Given the description of an element on the screen output the (x, y) to click on. 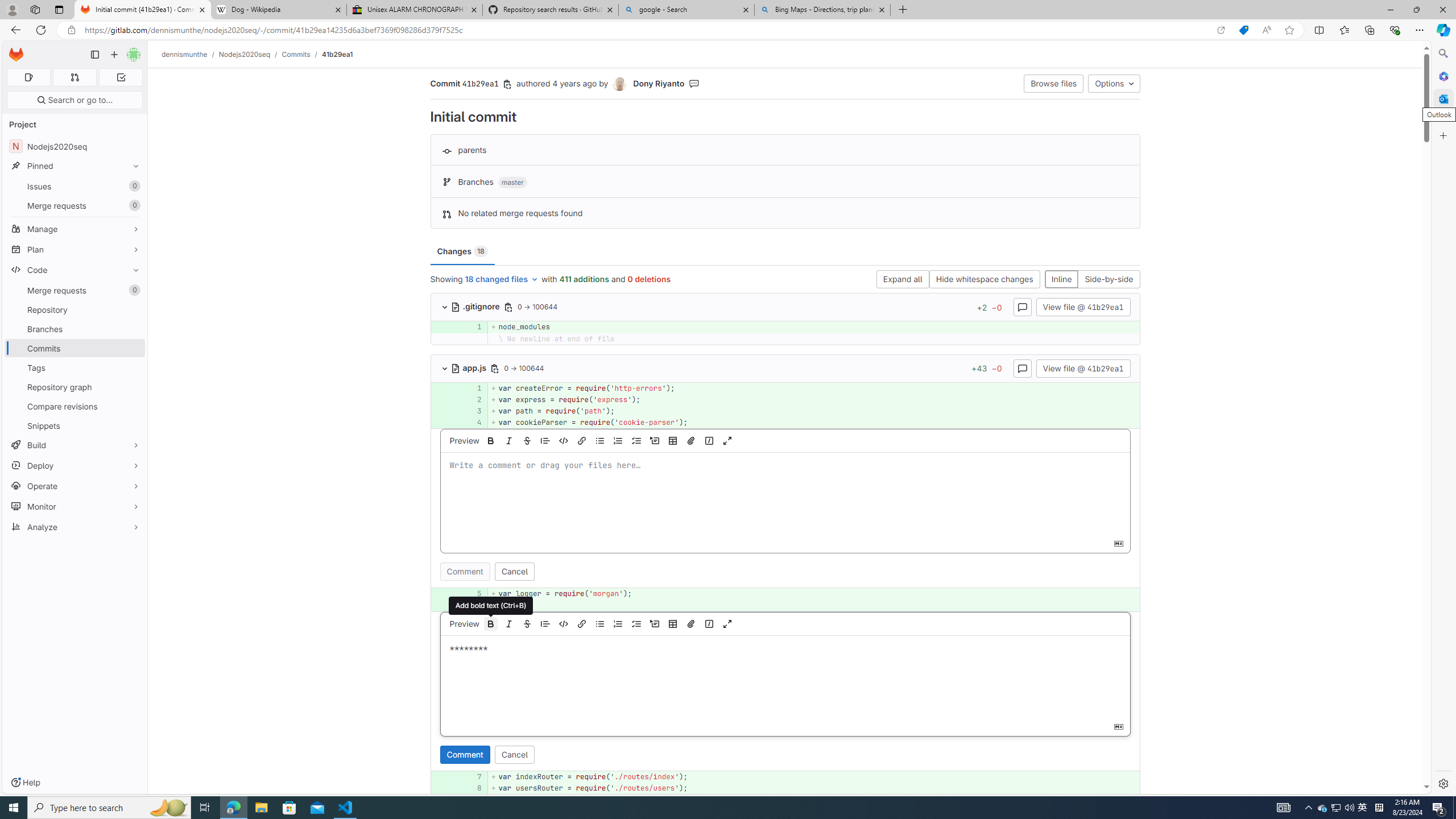
Add a checklist (635, 623)
To-Do list 0 (120, 76)
Manage (74, 228)
Analyze (74, 526)
Browse files (1053, 83)
4 (472, 422)
Expand all (902, 279)
Plan (74, 248)
dennismunthe (184, 53)
4 (471, 422)
Compare revisions (74, 406)
Add a bullet list (599, 623)
Help (25, 782)
Outlook (1442, 98)
